Given the description of an element on the screen output the (x, y) to click on. 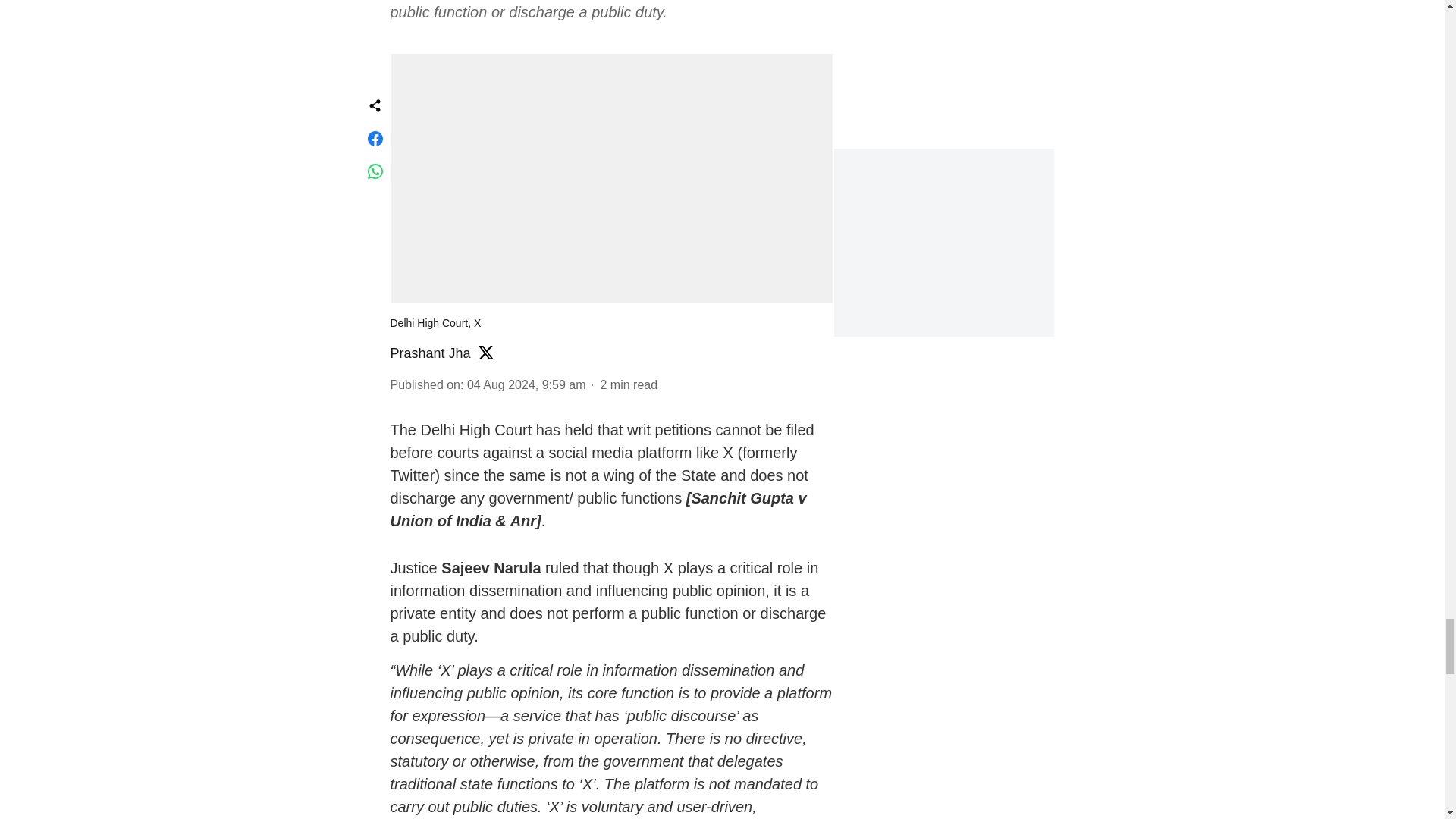
2024-08-04 01:59 (526, 384)
